Given the description of an element on the screen output the (x, y) to click on. 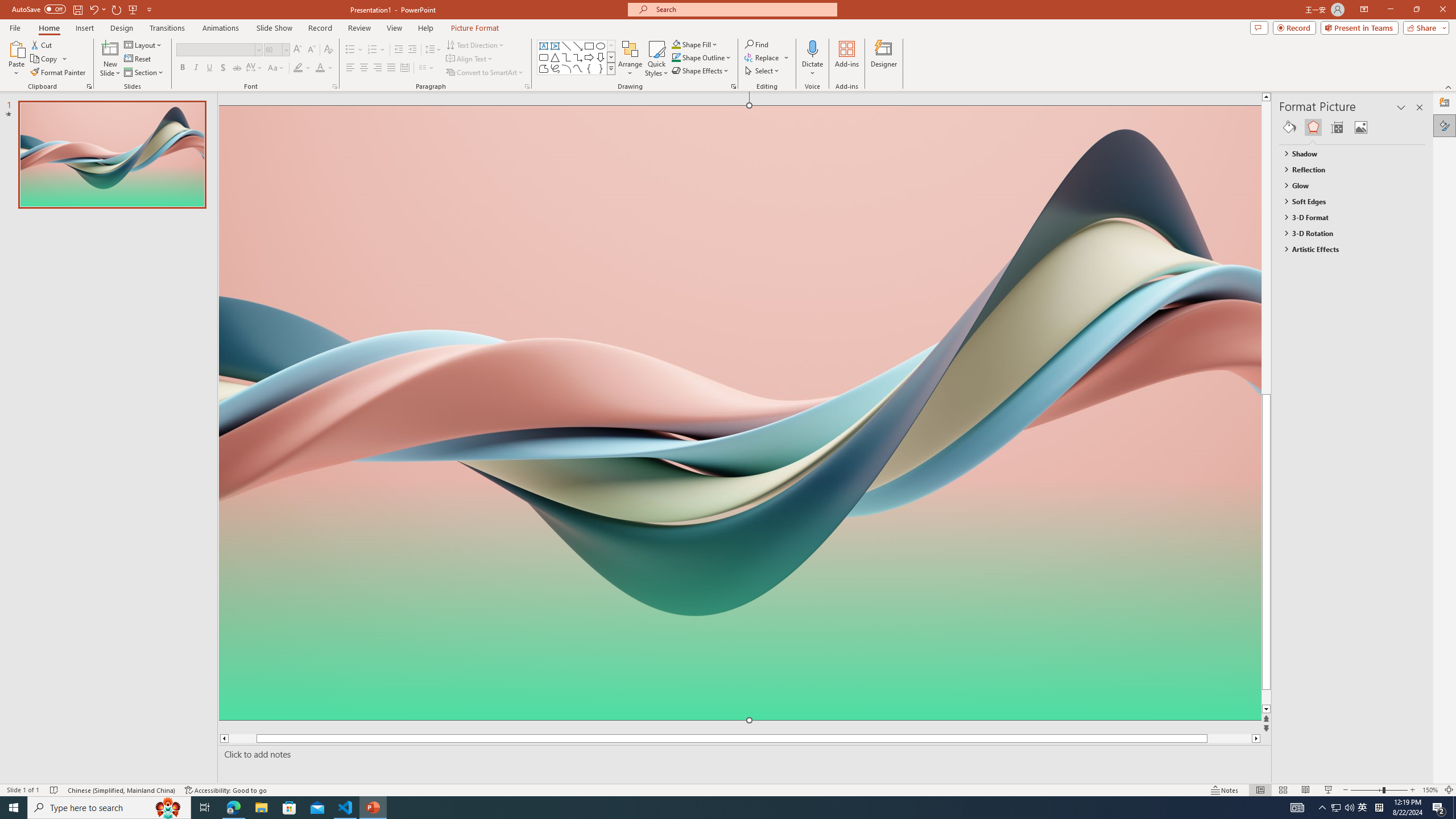
Fill & Line (1288, 126)
Picture (1361, 126)
Effects (1313, 126)
